Given the description of an element on the screen output the (x, y) to click on. 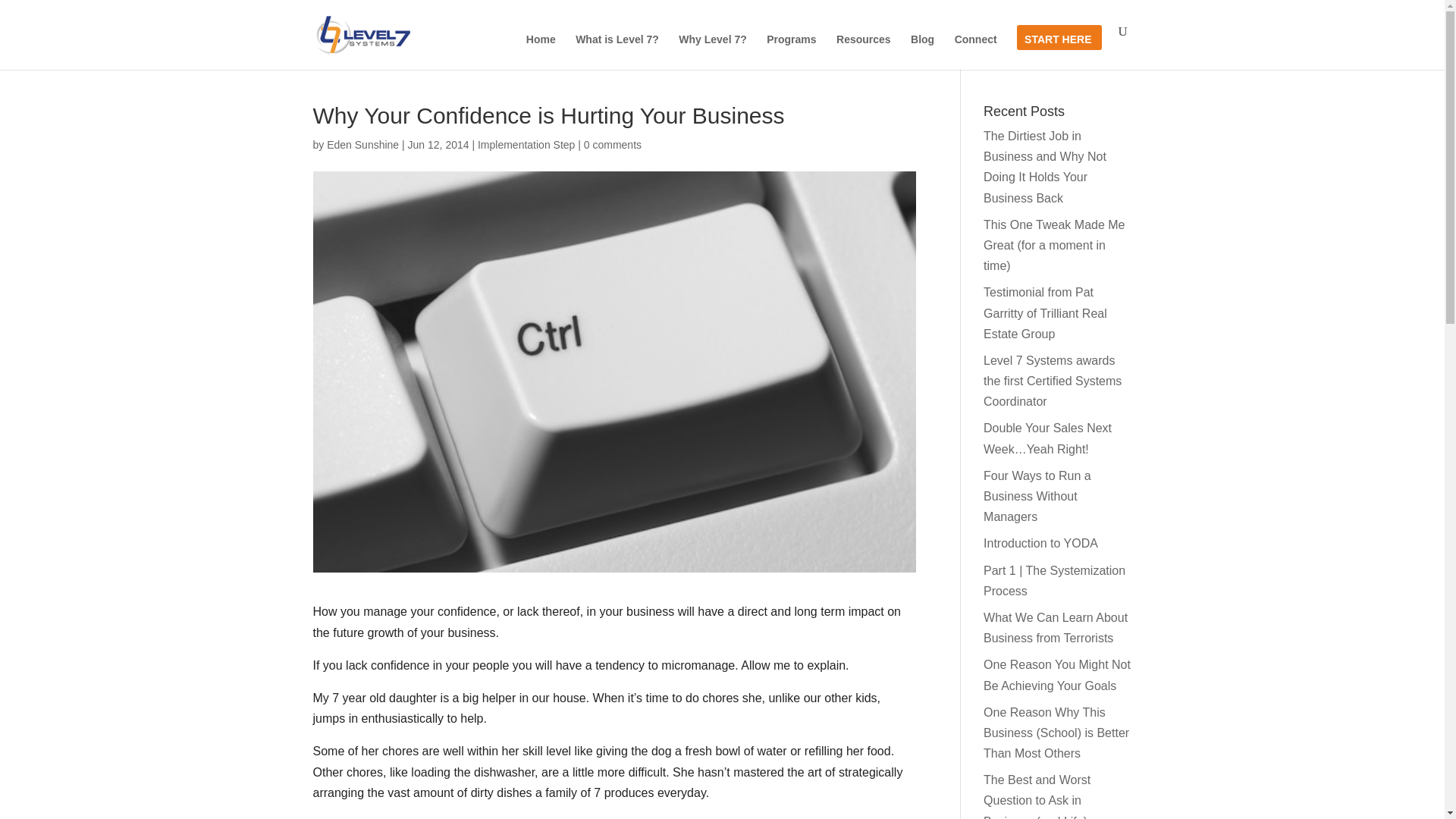
One Reason You Might Not Be Achieving Your Goals (1057, 674)
Implementation Step (526, 144)
Introduction to YODA (1040, 543)
Resources (863, 51)
0 comments (612, 144)
START HERE (1057, 51)
Testimonial from Pat Garritty of Trilliant Real Estate Group (1045, 312)
Connect (976, 51)
